Given the description of an element on the screen output the (x, y) to click on. 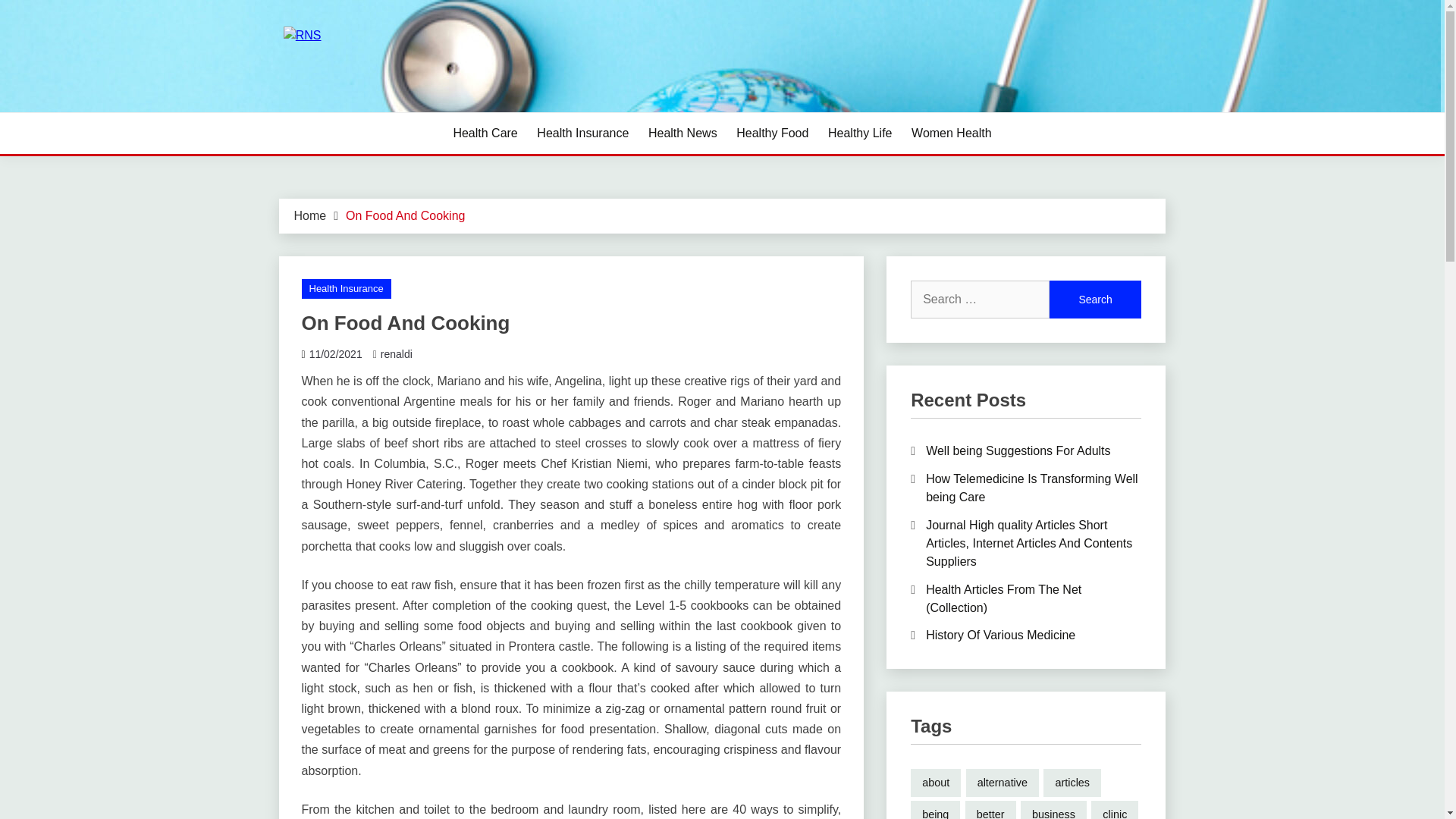
renaldi (396, 354)
Health News (682, 133)
Health Insurance (346, 288)
clinic (1114, 809)
about (935, 783)
Well being Suggestions For Adults (1017, 450)
alternative (1002, 783)
RNS (308, 110)
Women Health (951, 133)
